Given the description of an element on the screen output the (x, y) to click on. 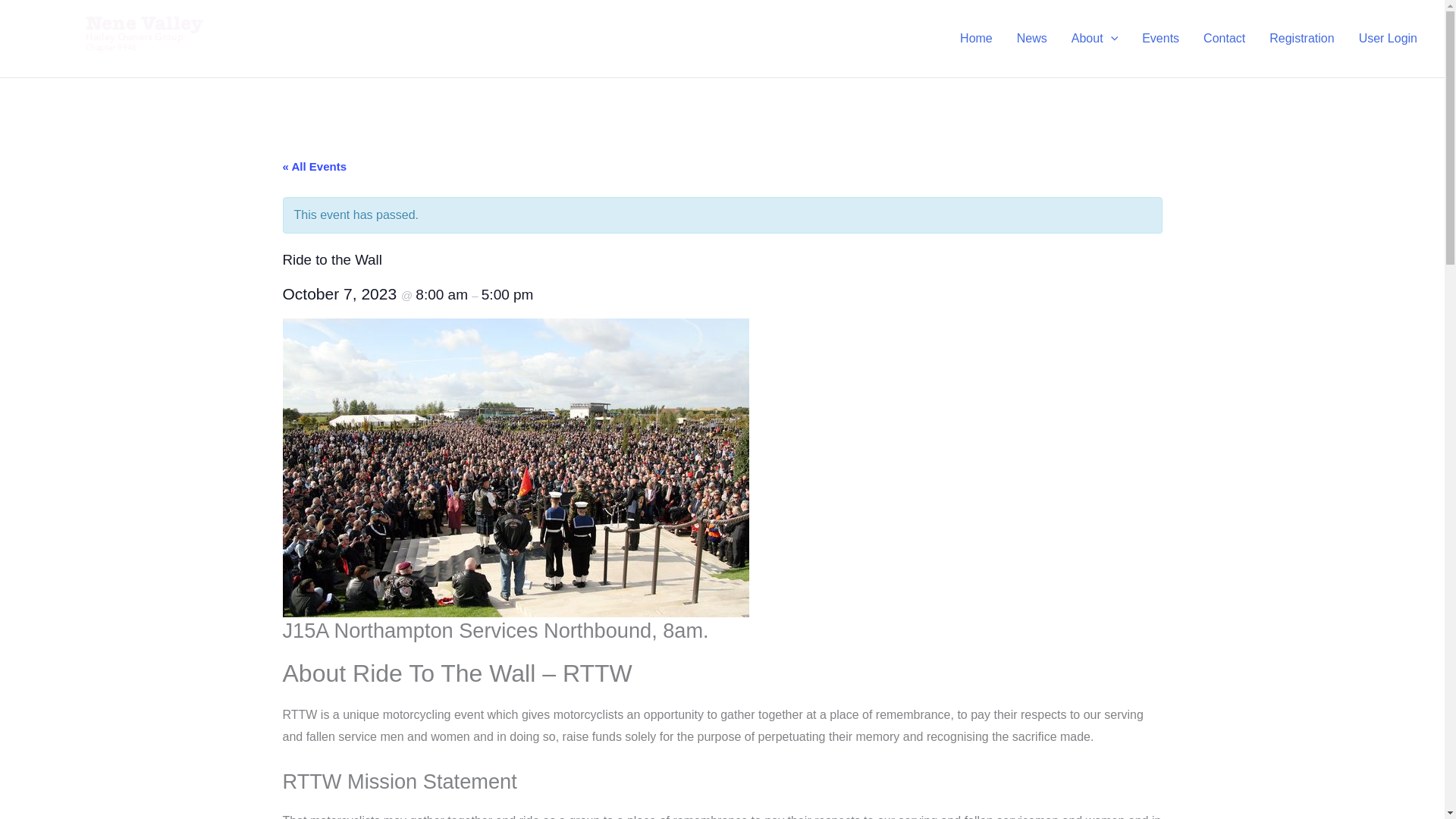
Home (975, 38)
Contact (1224, 38)
Events (1160, 38)
Registration (1301, 38)
News (1031, 38)
About (1094, 38)
User Login (1387, 38)
